Given the description of an element on the screen output the (x, y) to click on. 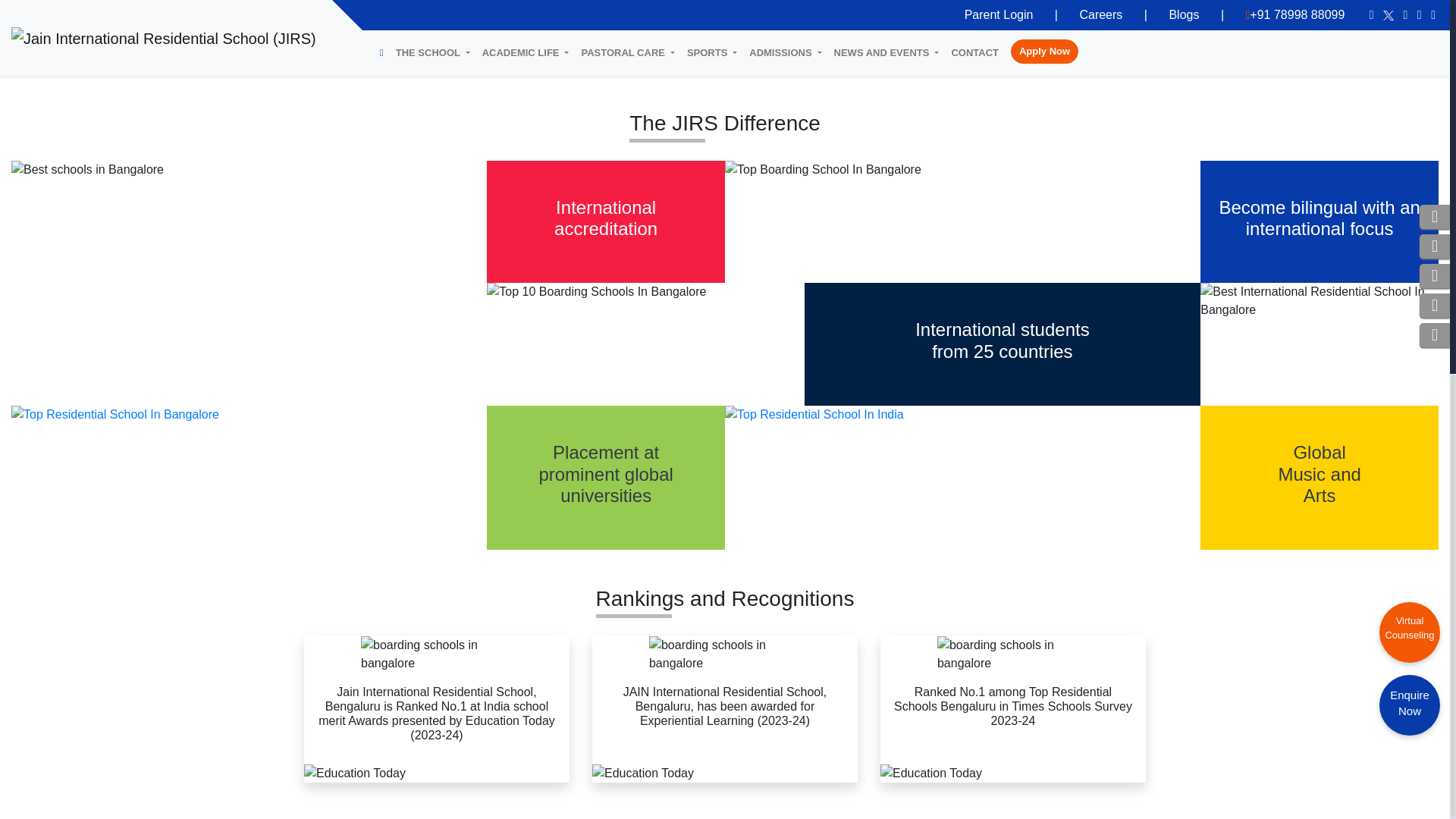
Enquire Now (1408, 23)
